Given the description of an element on the screen output the (x, y) to click on. 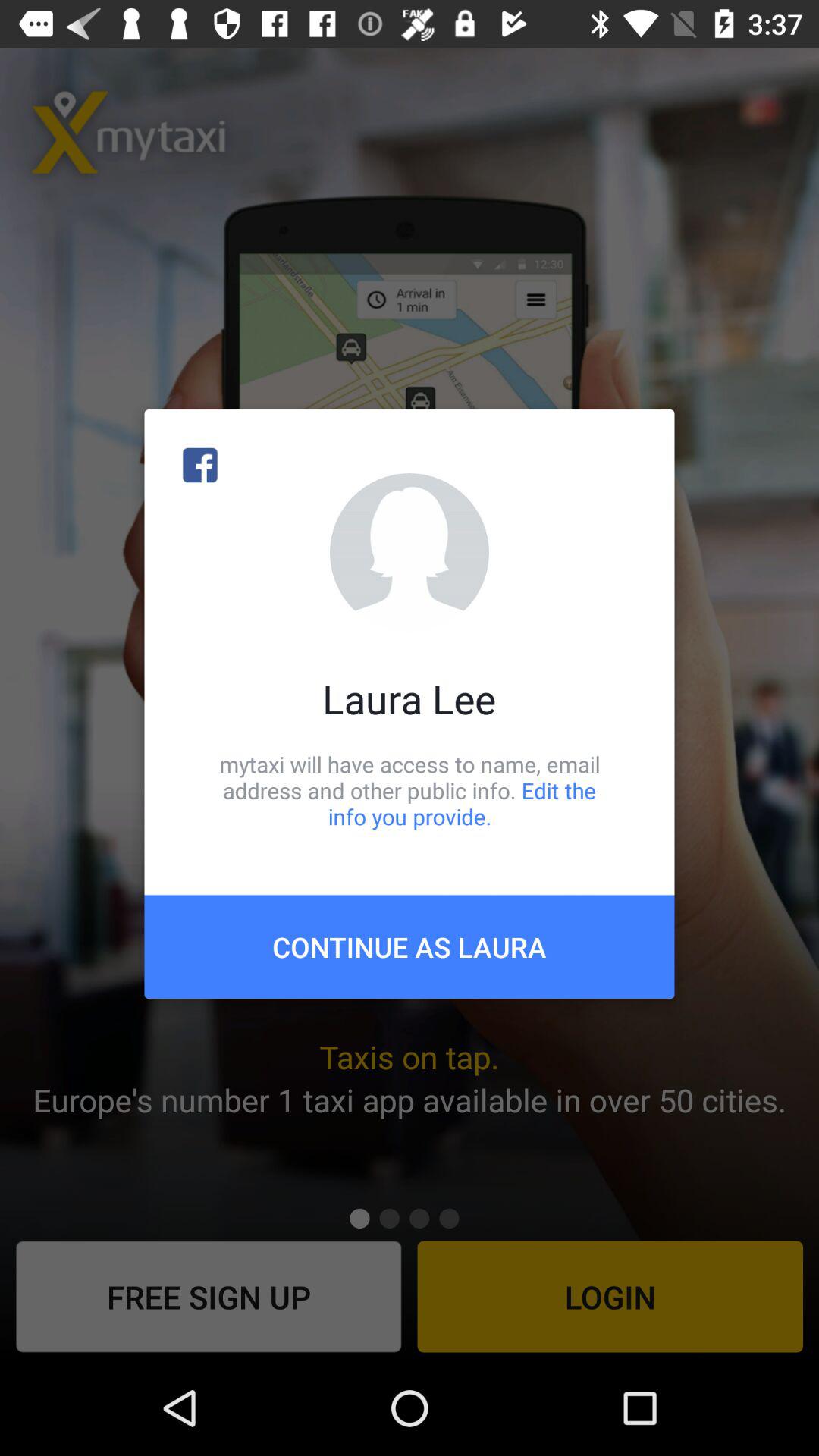
jump to mytaxi will have (409, 790)
